Given the description of an element on the screen output the (x, y) to click on. 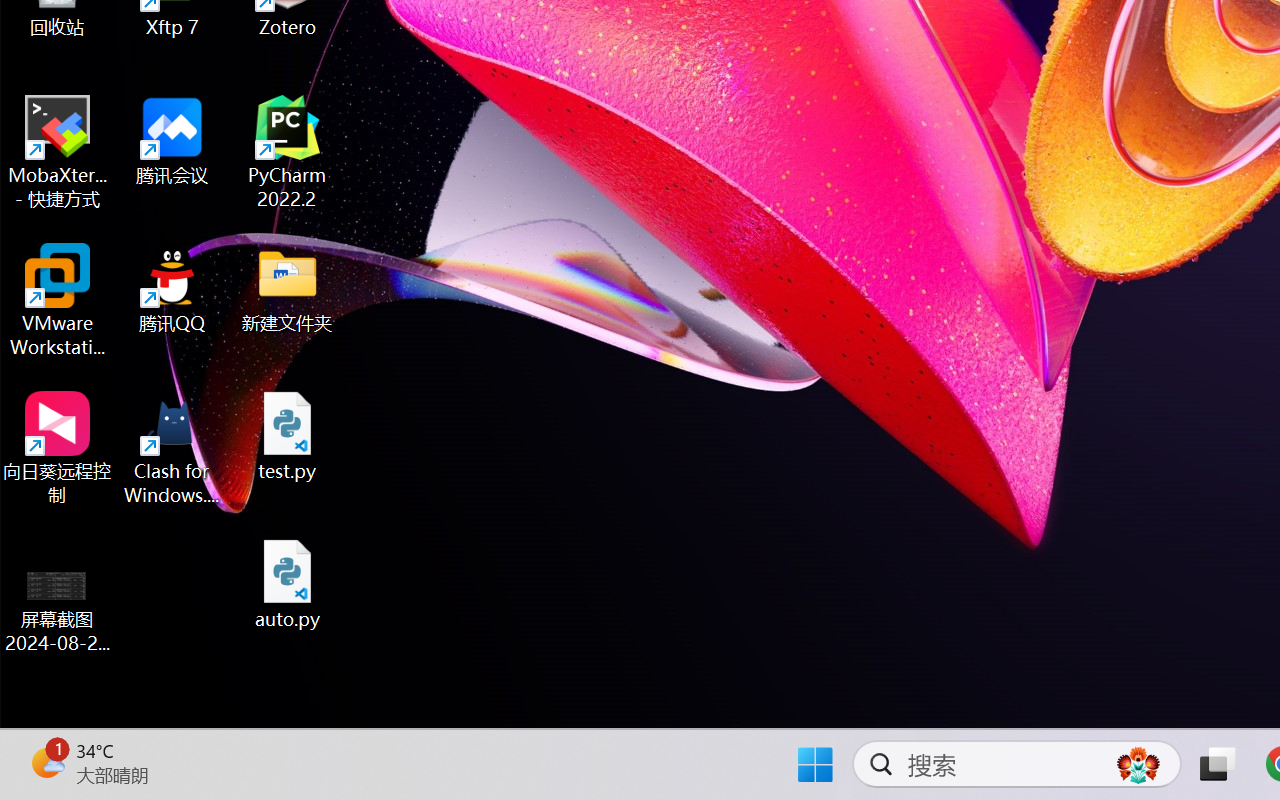
test.py (287, 436)
PyCharm 2022.2 (287, 152)
VMware Workstation Pro (57, 300)
